Given the description of an element on the screen output the (x, y) to click on. 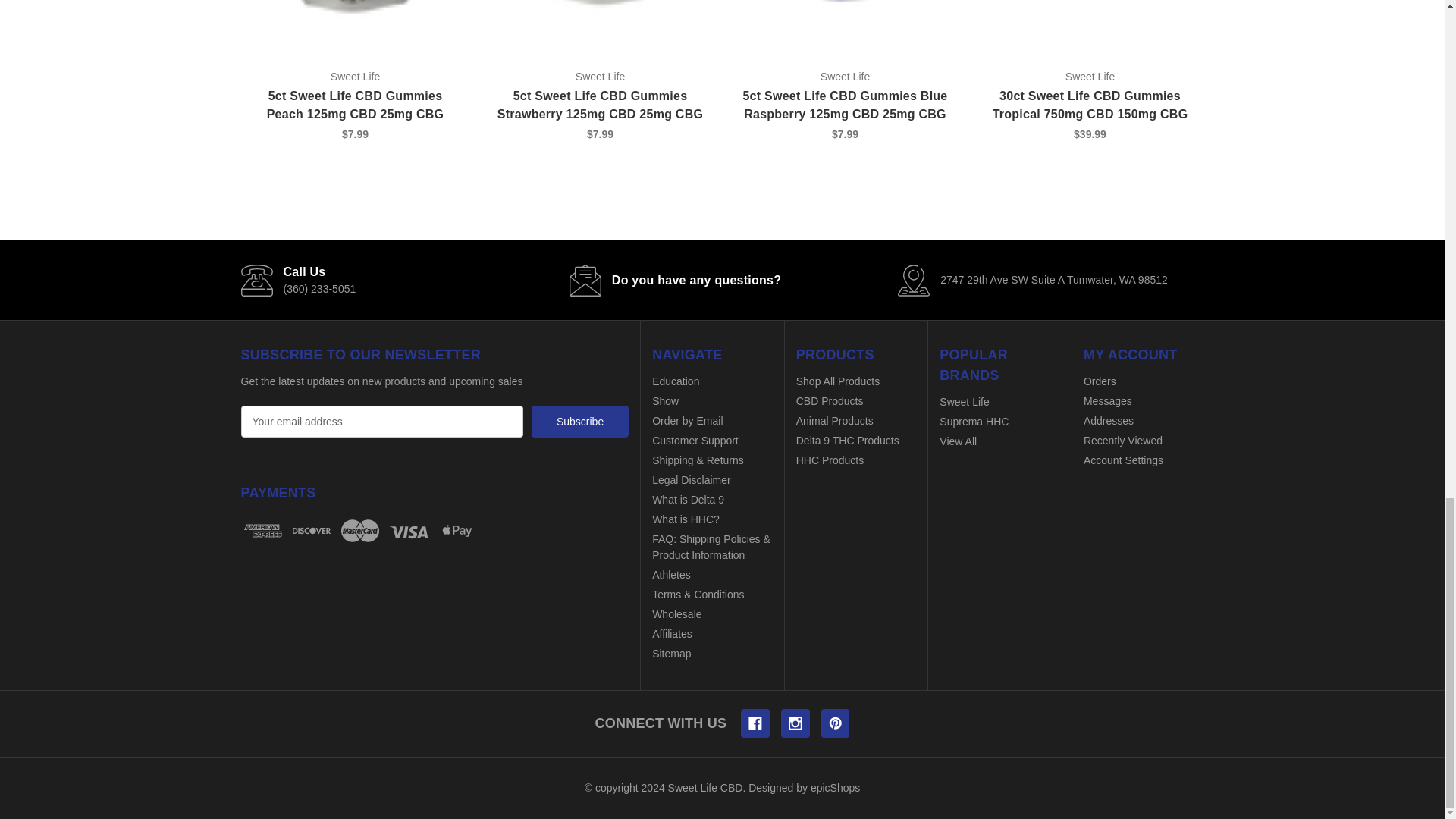
Subscribe (579, 421)
5ct Sweet Life CBD Gummies Strawberry  125mg CBD 25mg CBG (599, 12)
5ct Sweet Life CBD Gummies Peach  125mg CBD 25mg CBG (355, 12)
30ct Sweet Life CBD Gummies Tropical  750mg CBD 150mg CBG (1089, 12)
